Given the description of an element on the screen output the (x, y) to click on. 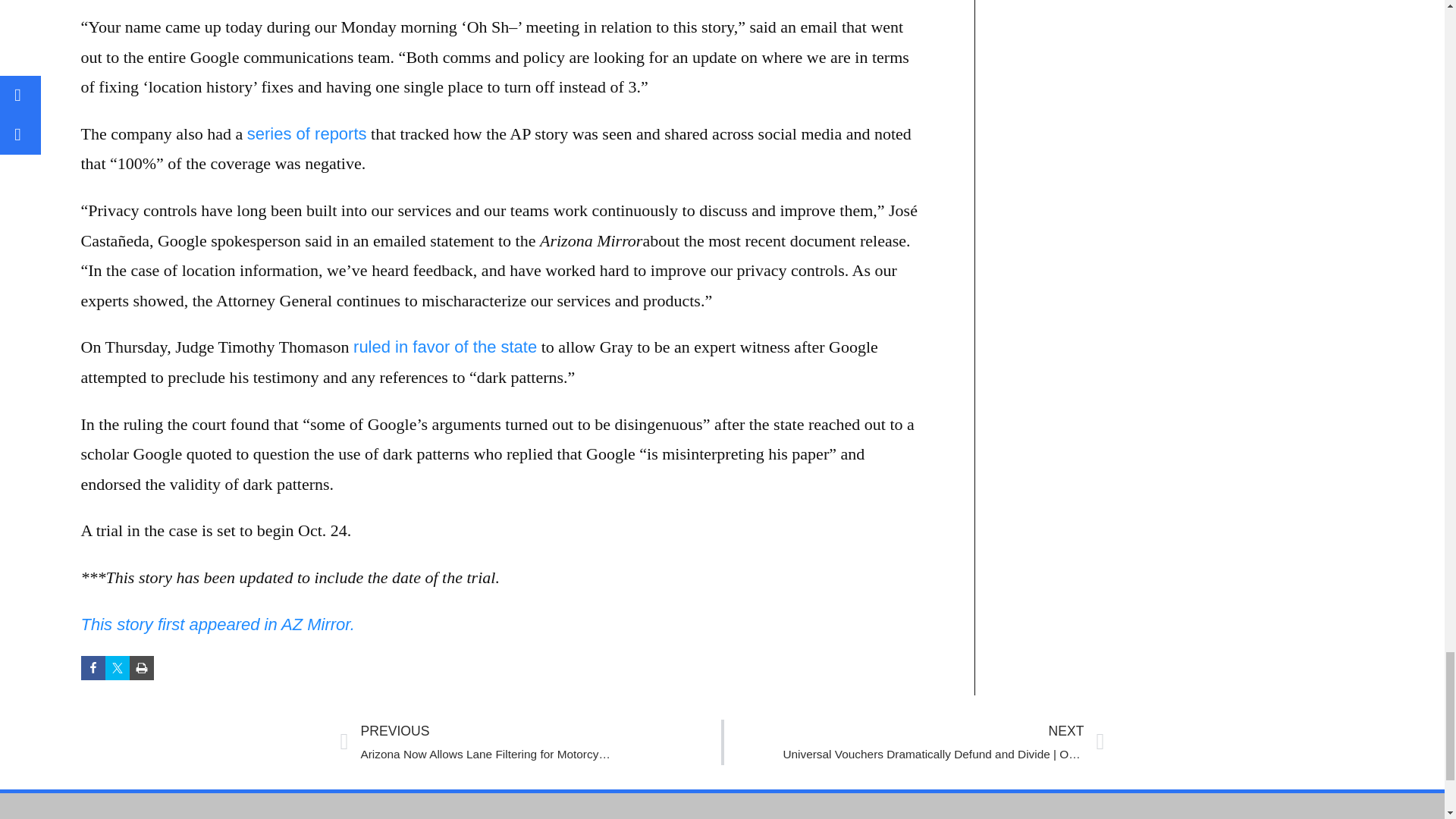
series of reports (306, 133)
ruled in favor of the state (445, 346)
This story first appeared in AZ Mirror. (216, 623)
Share on Twitter (116, 668)
Share on Facebook (92, 668)
Print this Page (140, 668)
